Given the description of an element on the screen output the (x, y) to click on. 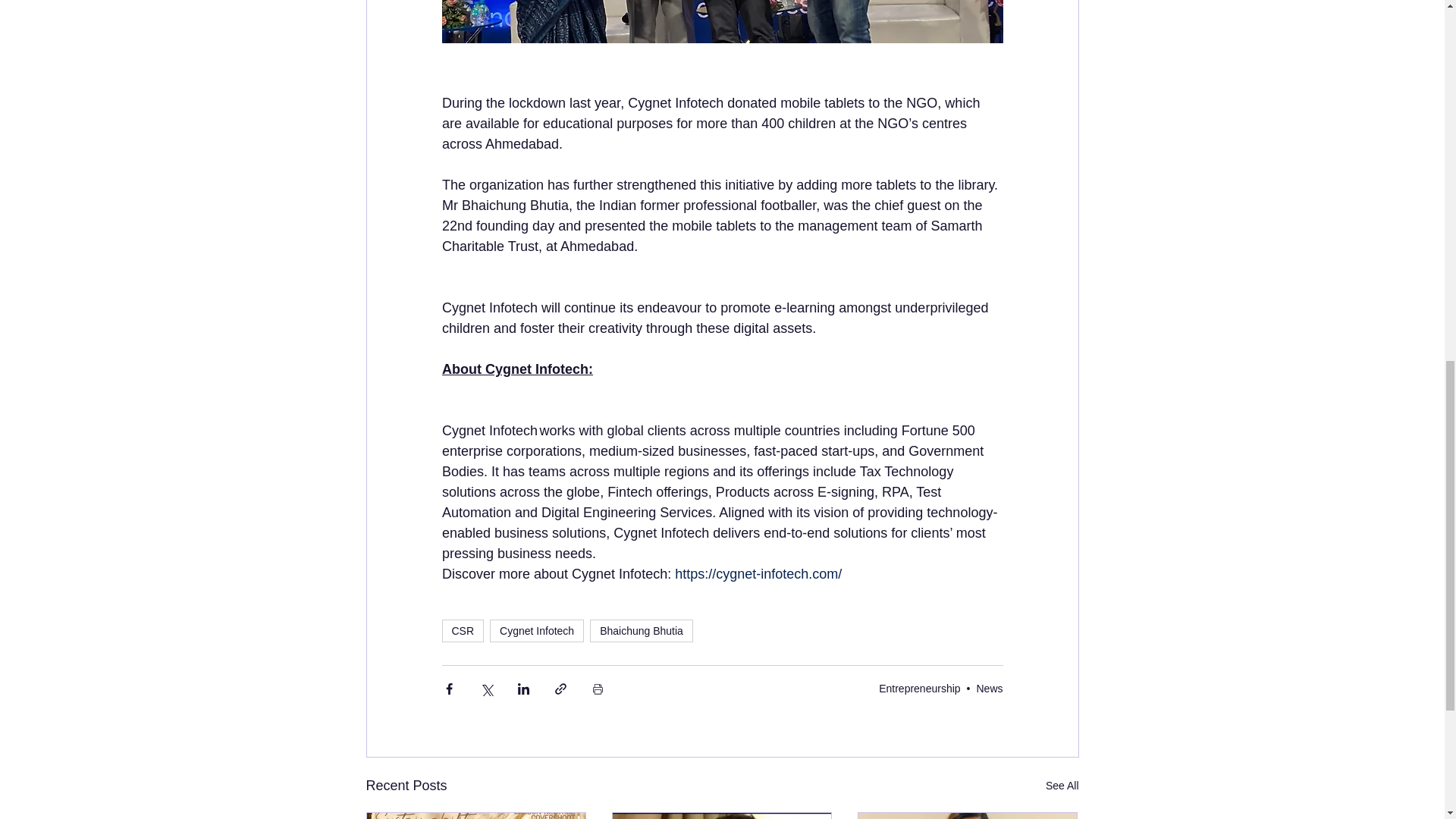
Cygnet Infotech (536, 630)
Bhaichung Bhutia (641, 630)
CSR (462, 630)
